Given the description of an element on the screen output the (x, y) to click on. 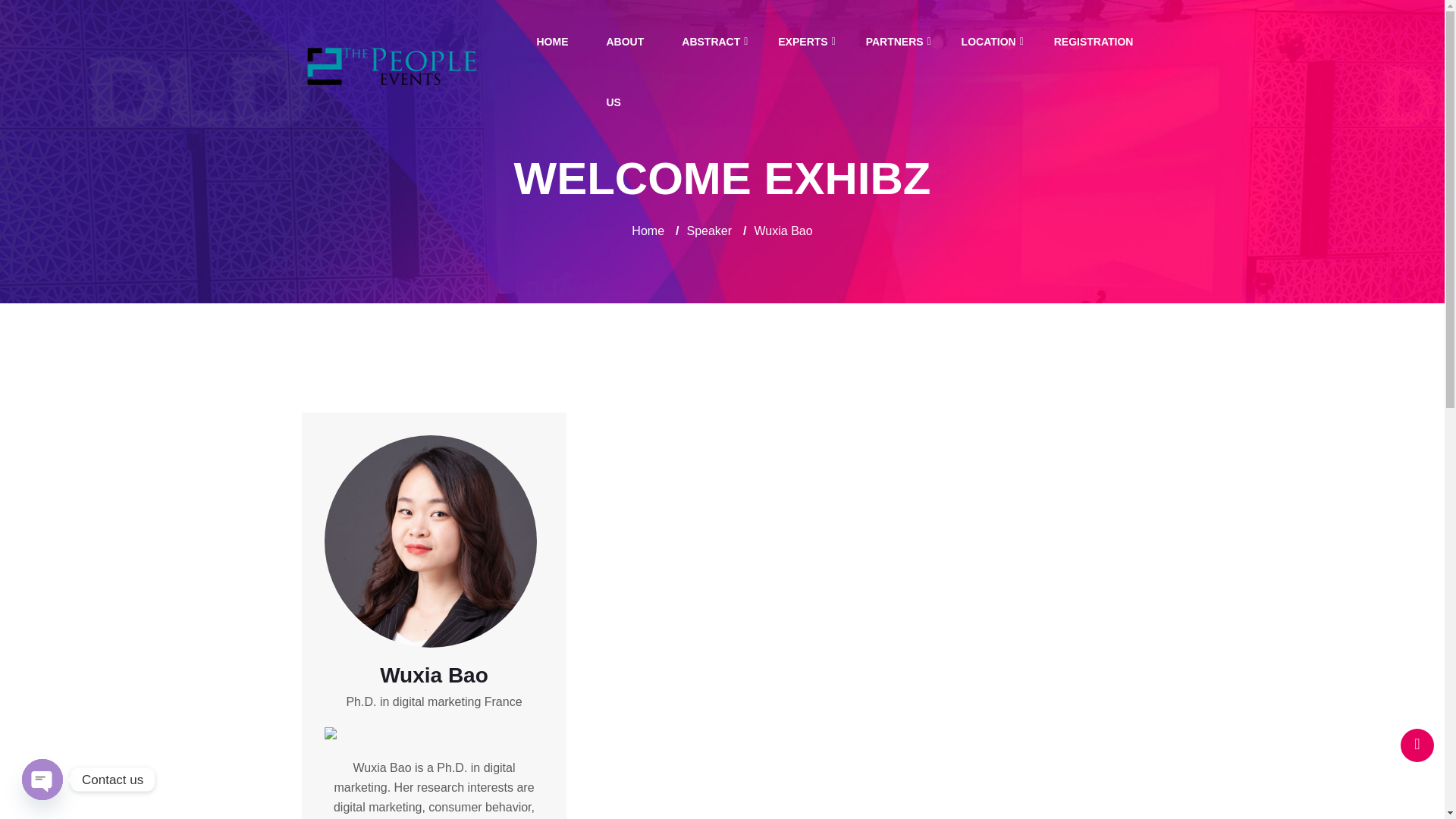
EXPERTS (802, 41)
REGISTRATION (1093, 41)
LOCATION (989, 41)
PARTNERS (894, 41)
ABSTRACT (711, 41)
Speaker (709, 230)
Home (647, 230)
